Given the description of an element on the screen output the (x, y) to click on. 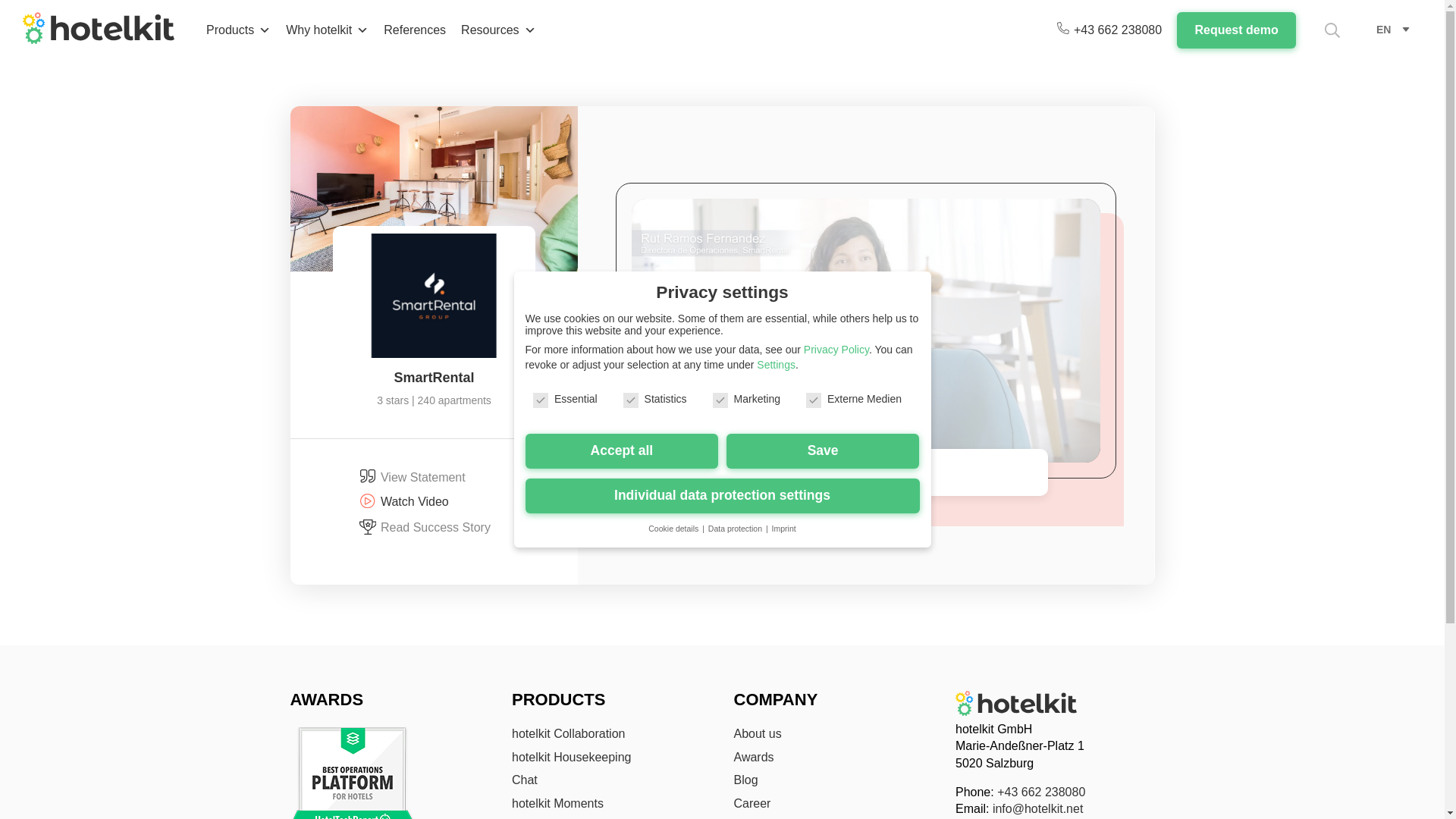
SmartRental (433, 377)
Products (238, 30)
Mehr erfahren (865, 308)
Why hotelkit (326, 30)
Video laden (866, 336)
hotelkit Moments (558, 802)
Chat (524, 779)
1 (808, 365)
Request demo (1235, 30)
References (413, 30)
hotelkit Collaboration (568, 733)
Show results (1080, 12)
hotelkit Housekeeping (571, 757)
Resources (497, 30)
